Given the description of an element on the screen output the (x, y) to click on. 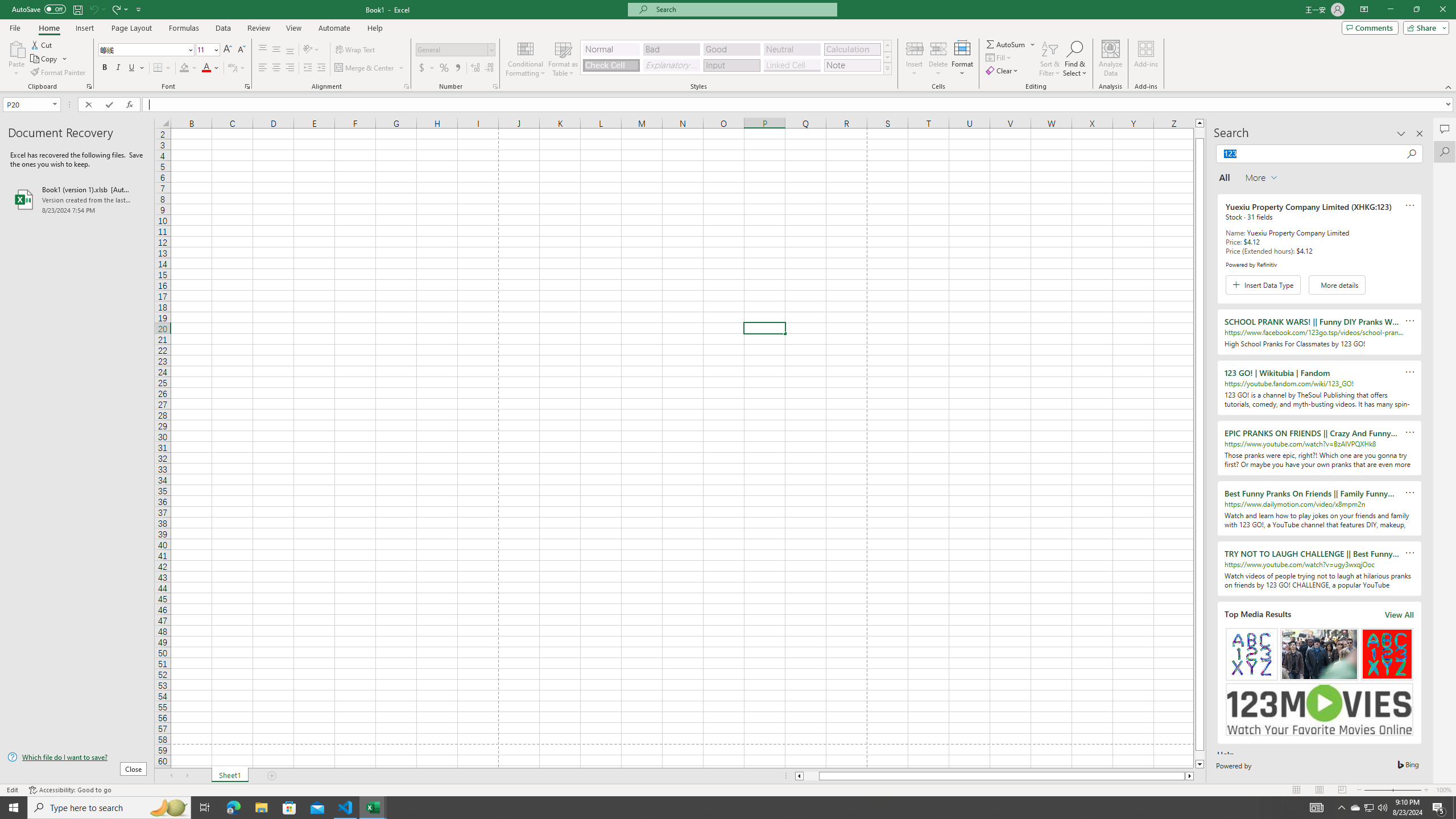
Find & Select (1075, 58)
Font Color (210, 67)
Linked Cell (791, 65)
Merge & Center (369, 67)
Copy (45, 58)
Format Cell Alignment (405, 85)
Bad (671, 49)
Underline (131, 67)
Format Cell Number (494, 85)
Decrease Indent (307, 67)
Paste (16, 48)
